Given the description of an element on the screen output the (x, y) to click on. 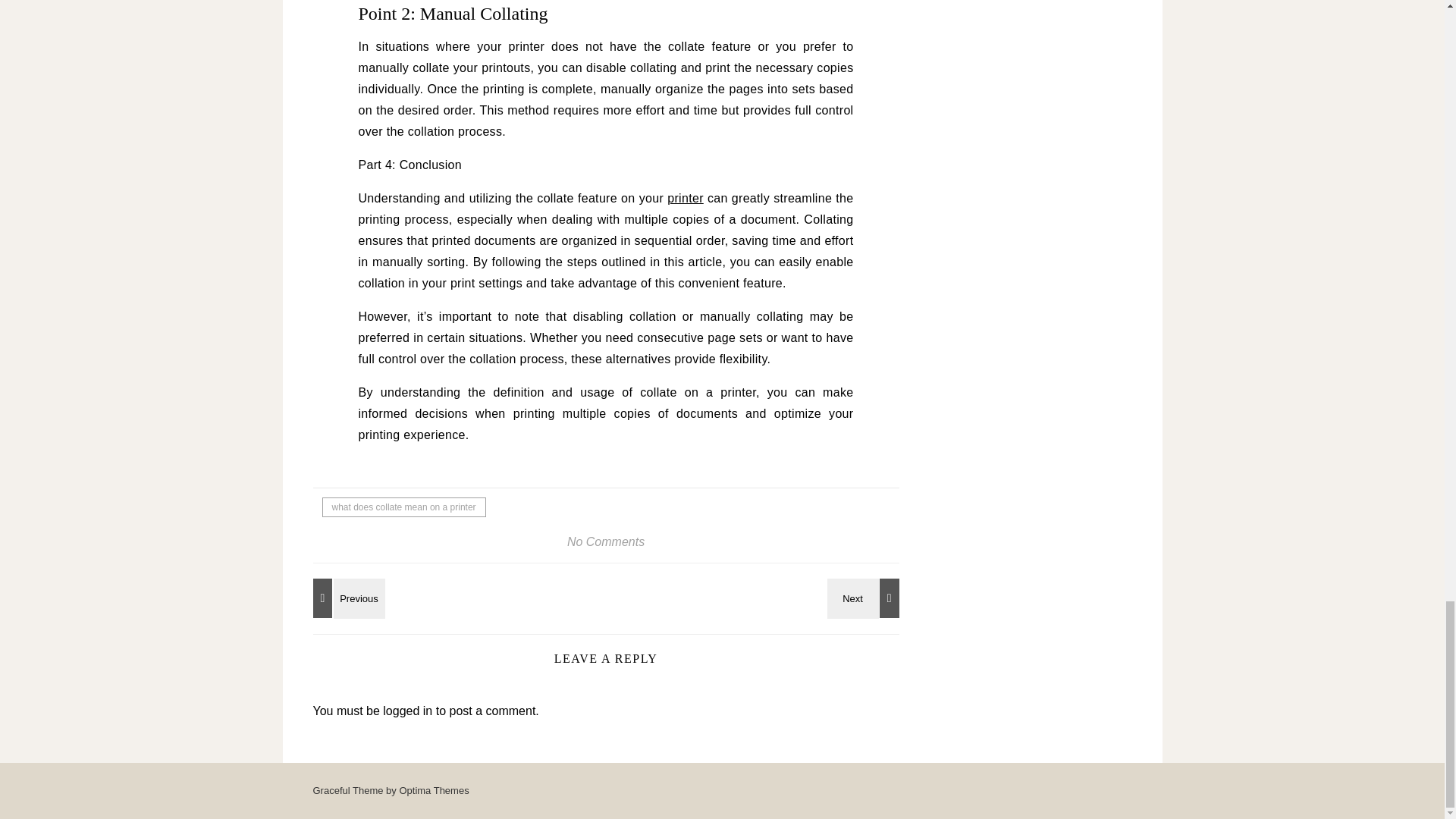
logged in (407, 710)
printer (684, 197)
what does collate mean on a printer (402, 506)
Optima Themes (433, 790)
No Comments (606, 541)
HP Printer Drivers: Download and Install for Performance (346, 598)
Connect Chromebook to Printer: Simple Setup (865, 598)
